Given the description of an element on the screen output the (x, y) to click on. 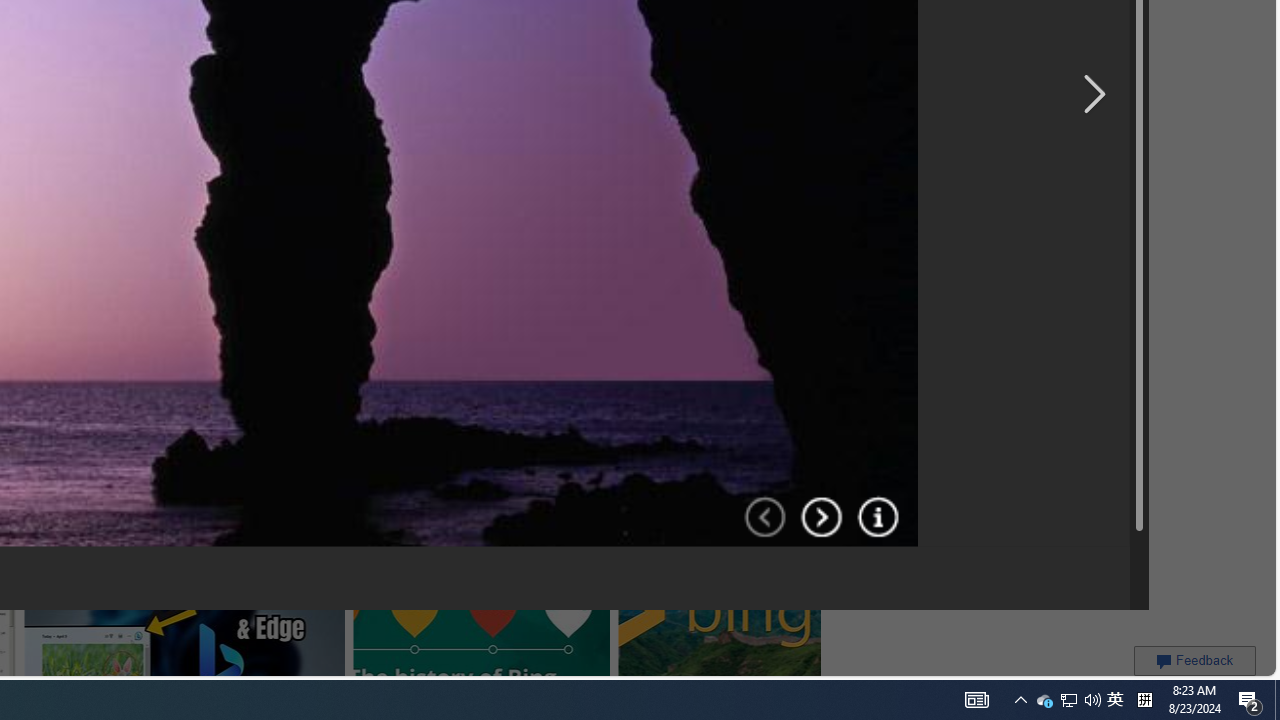
Microsoft Bing Search | Enfew (763, 24)
Remove the 'News & Interests' bar from Bing | TechLife (228, 16)
microsoft bing (555, 16)
Bing (2009) (RARE/FAKE) - YouTubeSave (381, 169)
